Given the description of an element on the screen output the (x, y) to click on. 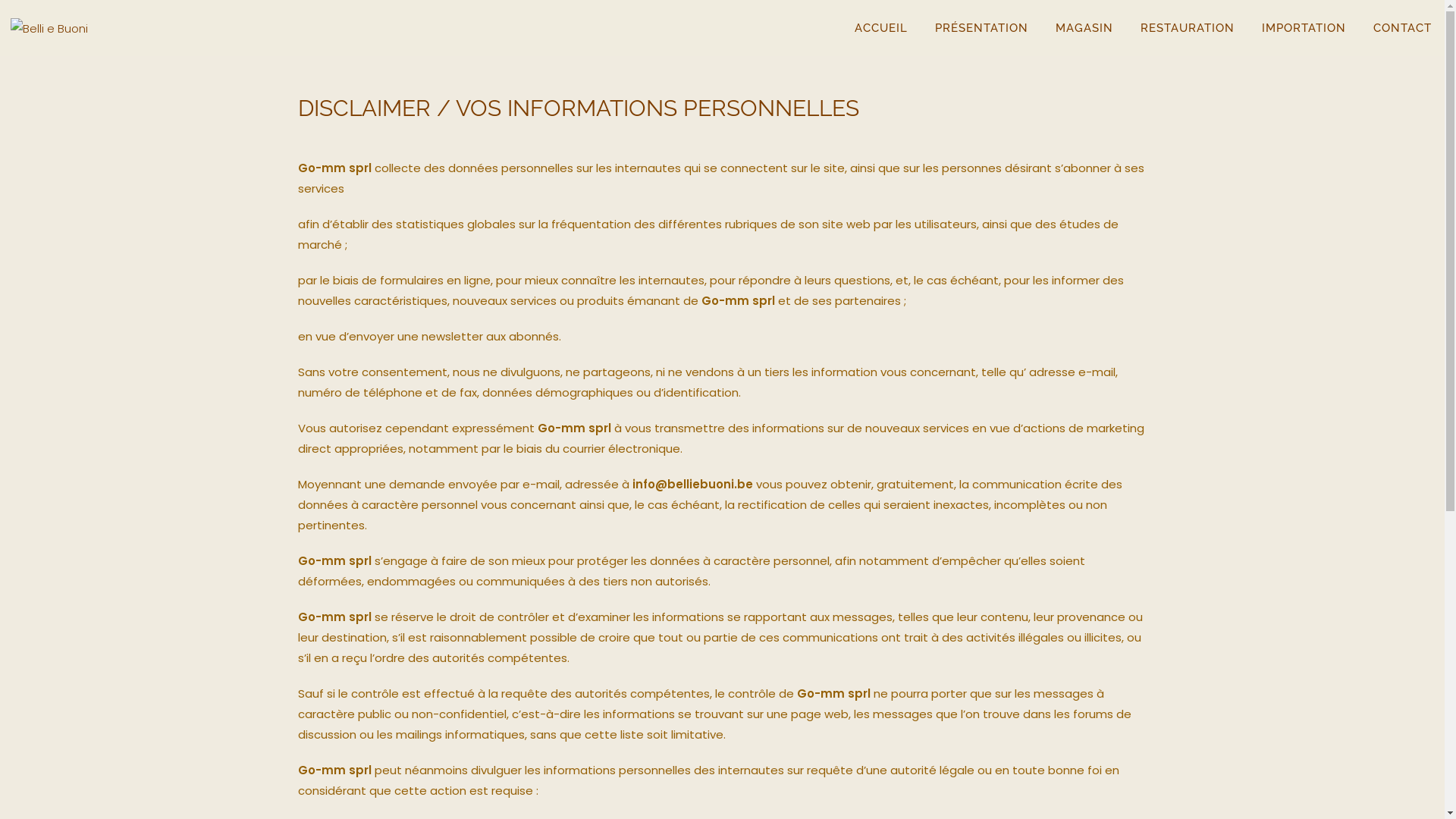
CONTACT Element type: text (1402, 28)
IMPORTATION Element type: text (1303, 28)
MAGASIN Element type: text (1083, 28)
RESTAURATION Element type: text (1187, 28)
ACCUEIL Element type: text (880, 28)
